Given the description of an element on the screen output the (x, y) to click on. 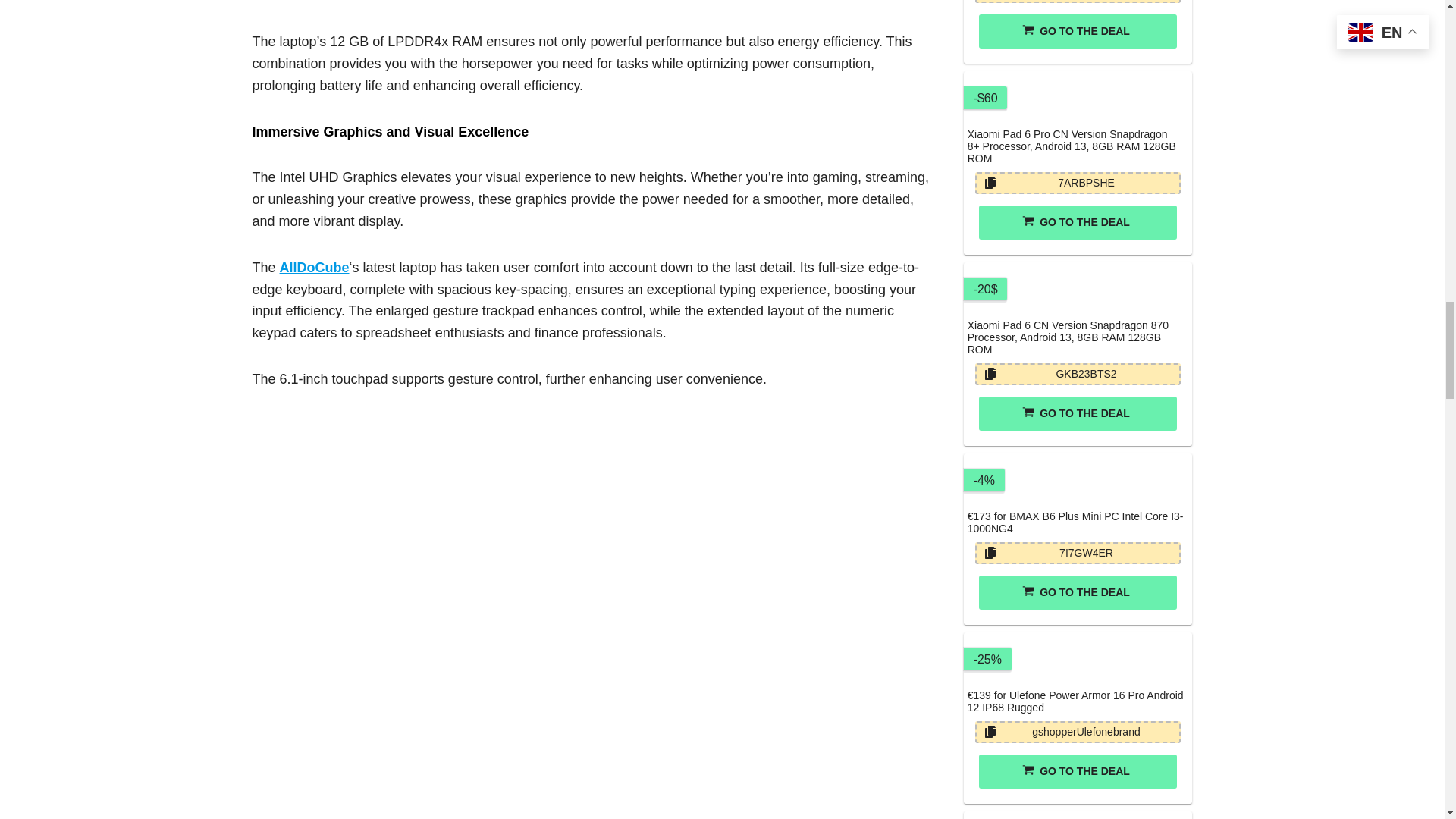
AllDoCube (314, 267)
